Given the description of an element on the screen output the (x, y) to click on. 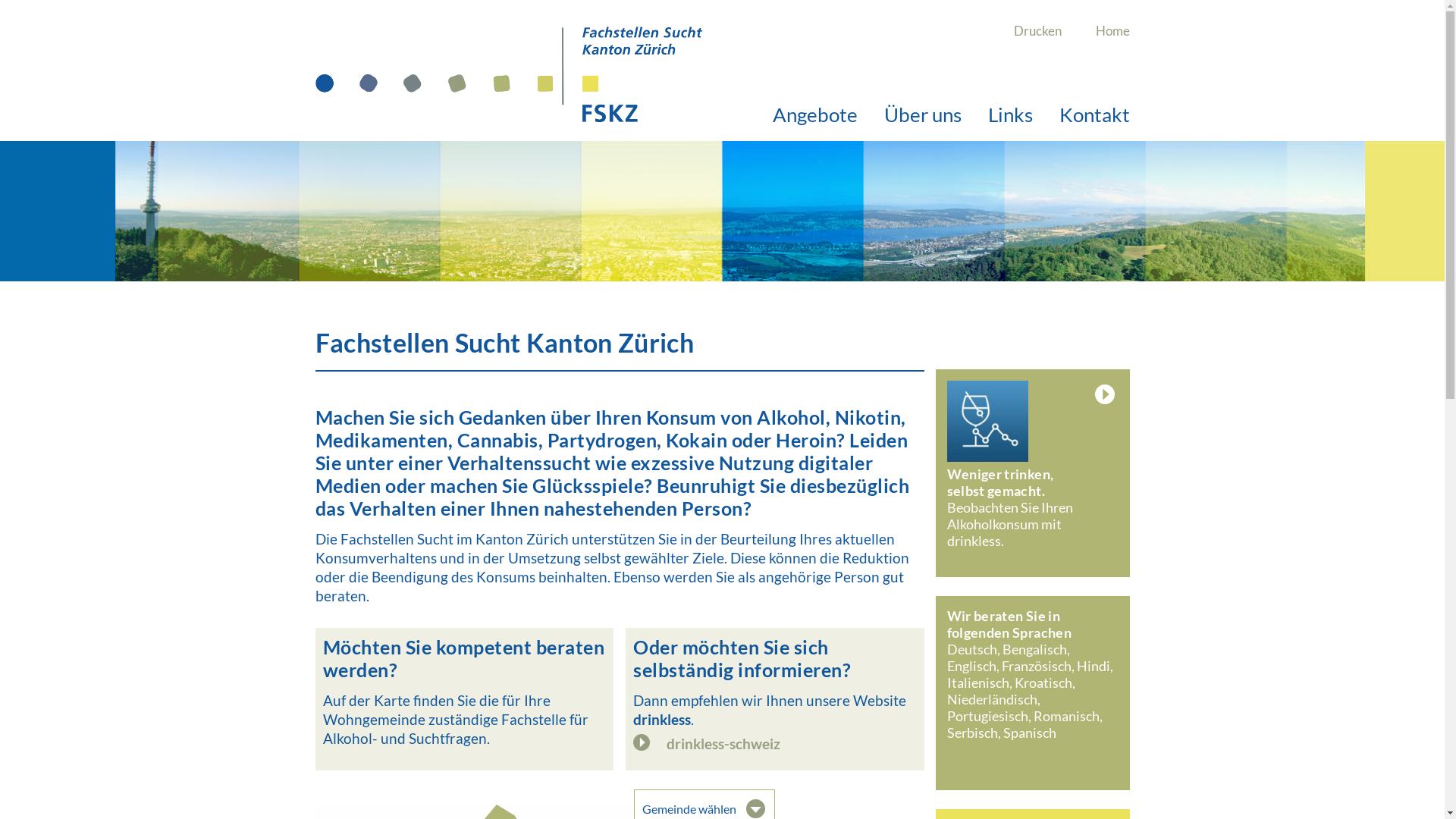
Kontakt Element type: text (1093, 114)
drinkless-schweiz Element type: text (774, 743)
Links Element type: text (1009, 114)
Drucken Element type: text (1036, 30)
Home Element type: text (1112, 30)
